Given the description of an element on the screen output the (x, y) to click on. 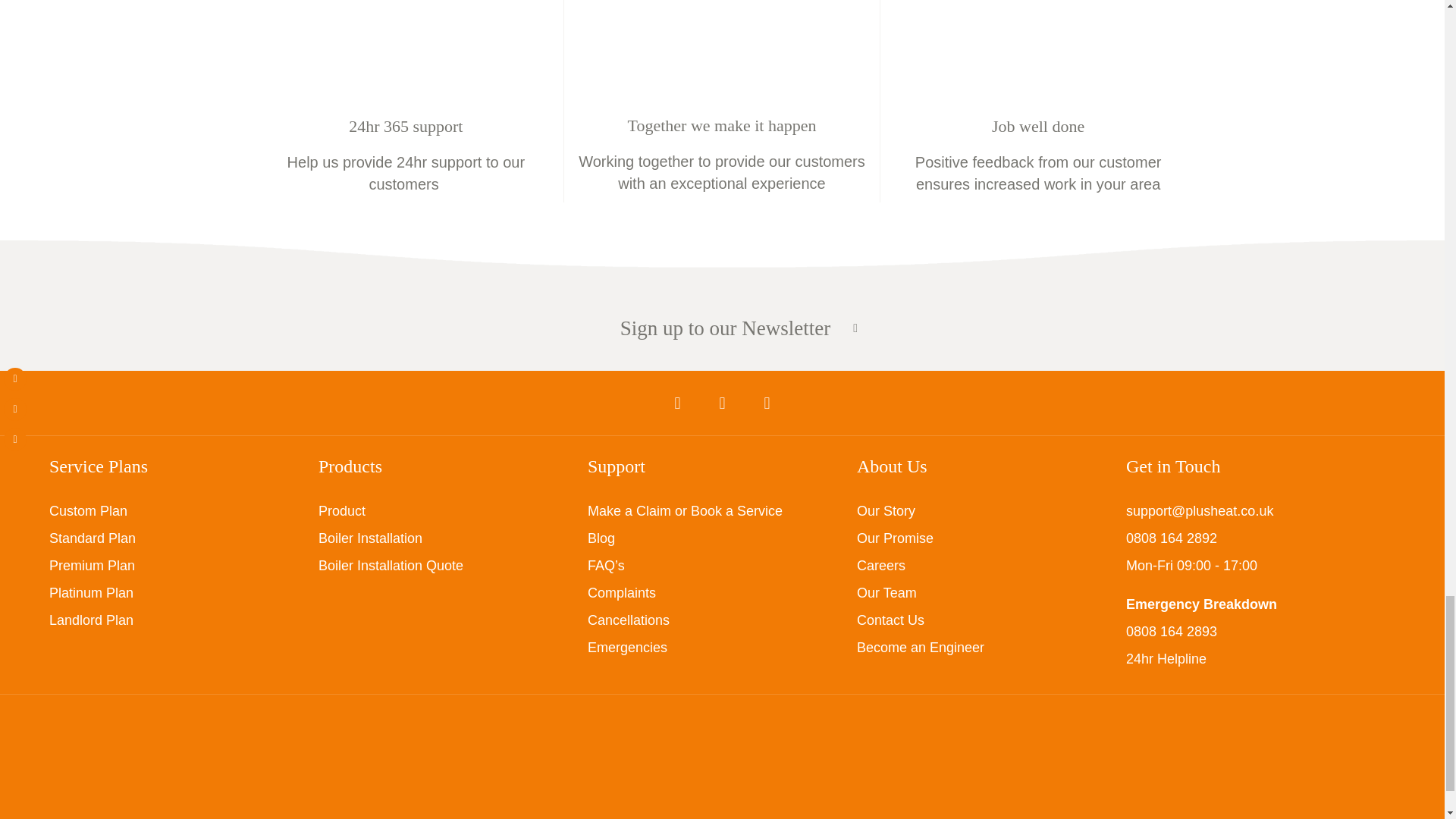
Instagram (766, 403)
Standard Plan (92, 538)
Facebook (677, 403)
Twitter (721, 403)
Premium Plan (92, 565)
Custom Plan (88, 510)
Landlord Plan (91, 620)
Product (341, 510)
Platinum Plan (91, 592)
